Given the description of an element on the screen output the (x, y) to click on. 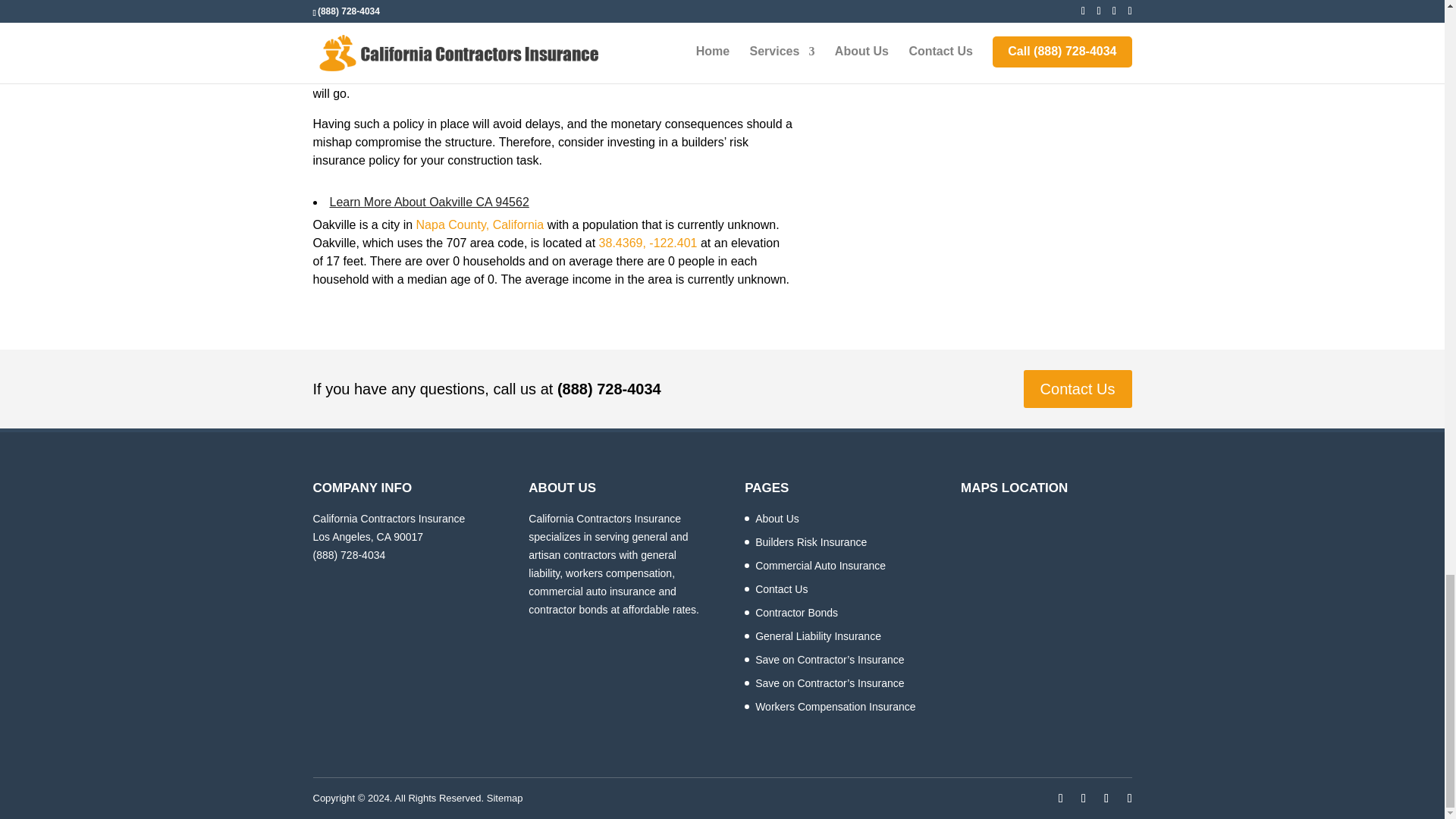
Contact Us (781, 589)
38.4369, -122.401 (647, 242)
Learn More About Oakville CA 94562 (428, 201)
Contact Us (1077, 388)
General Liability Insurance (817, 635)
Builders Risk Insurance (810, 541)
Commercial Auto Insurance (820, 565)
Contractor Bonds (796, 612)
Workers Compensation Insurance (835, 706)
Napa County, California (480, 224)
